Given the description of an element on the screen output the (x, y) to click on. 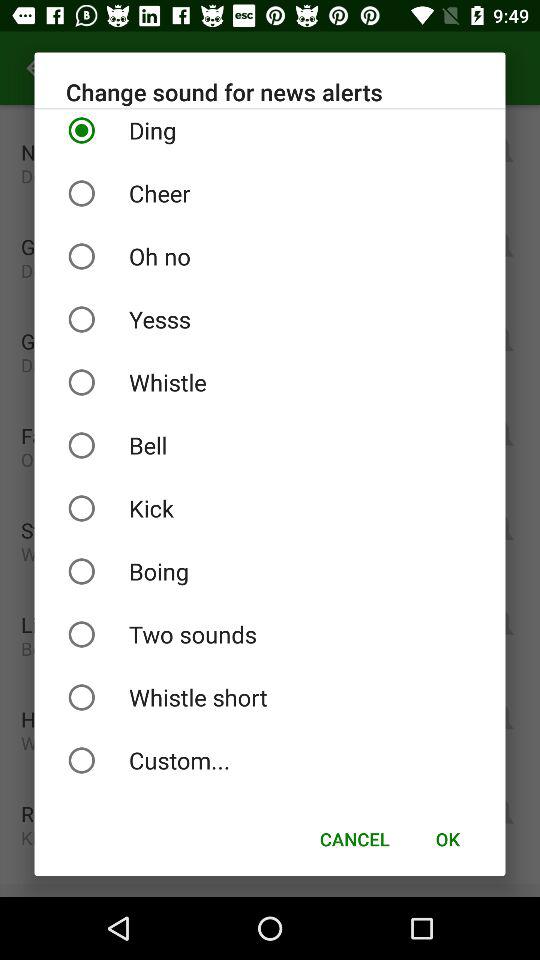
turn on icon below the custom... item (447, 838)
